Given the description of an element on the screen output the (x, y) to click on. 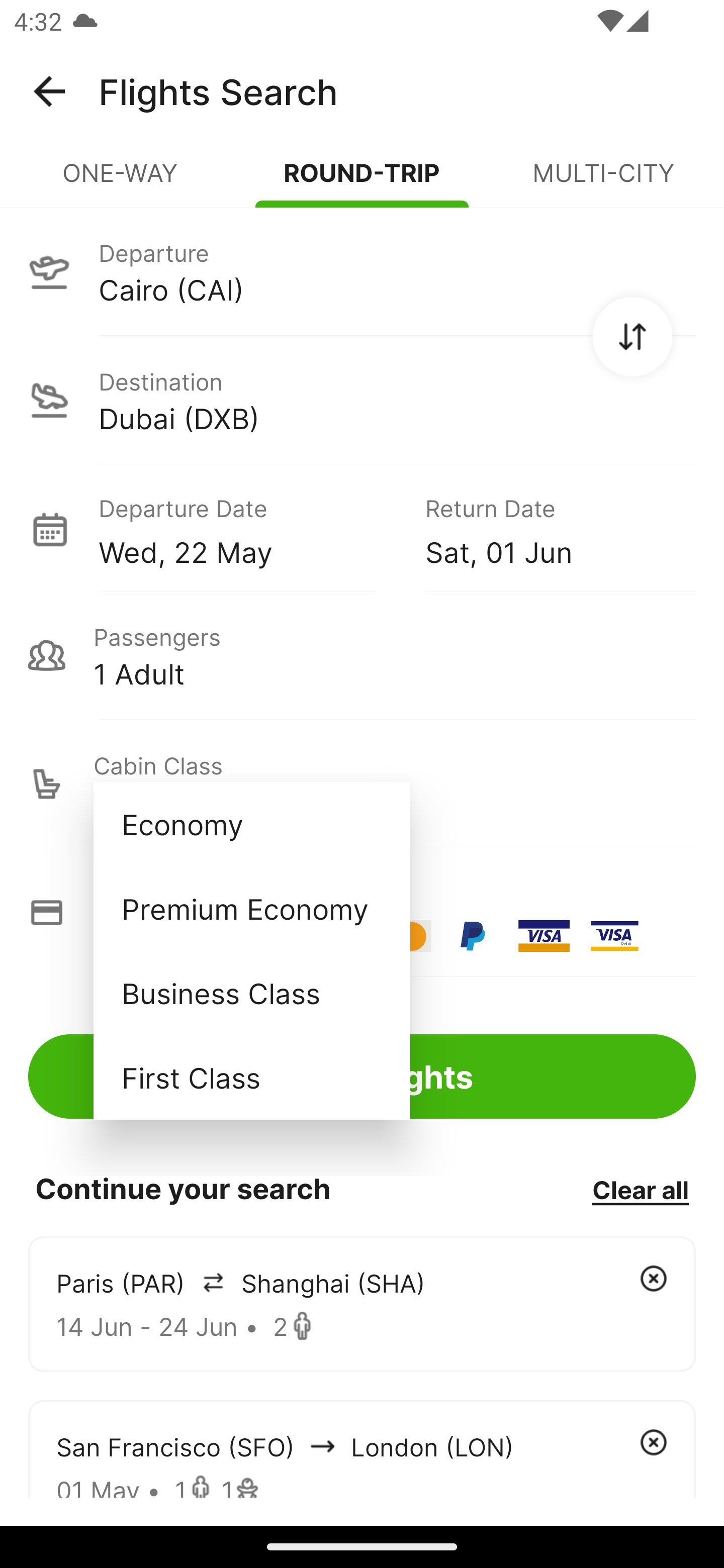
Economy (251, 824)
Premium Economy (251, 908)
Business Class (251, 992)
First Class (251, 1076)
